Given the description of an element on the screen output the (x, y) to click on. 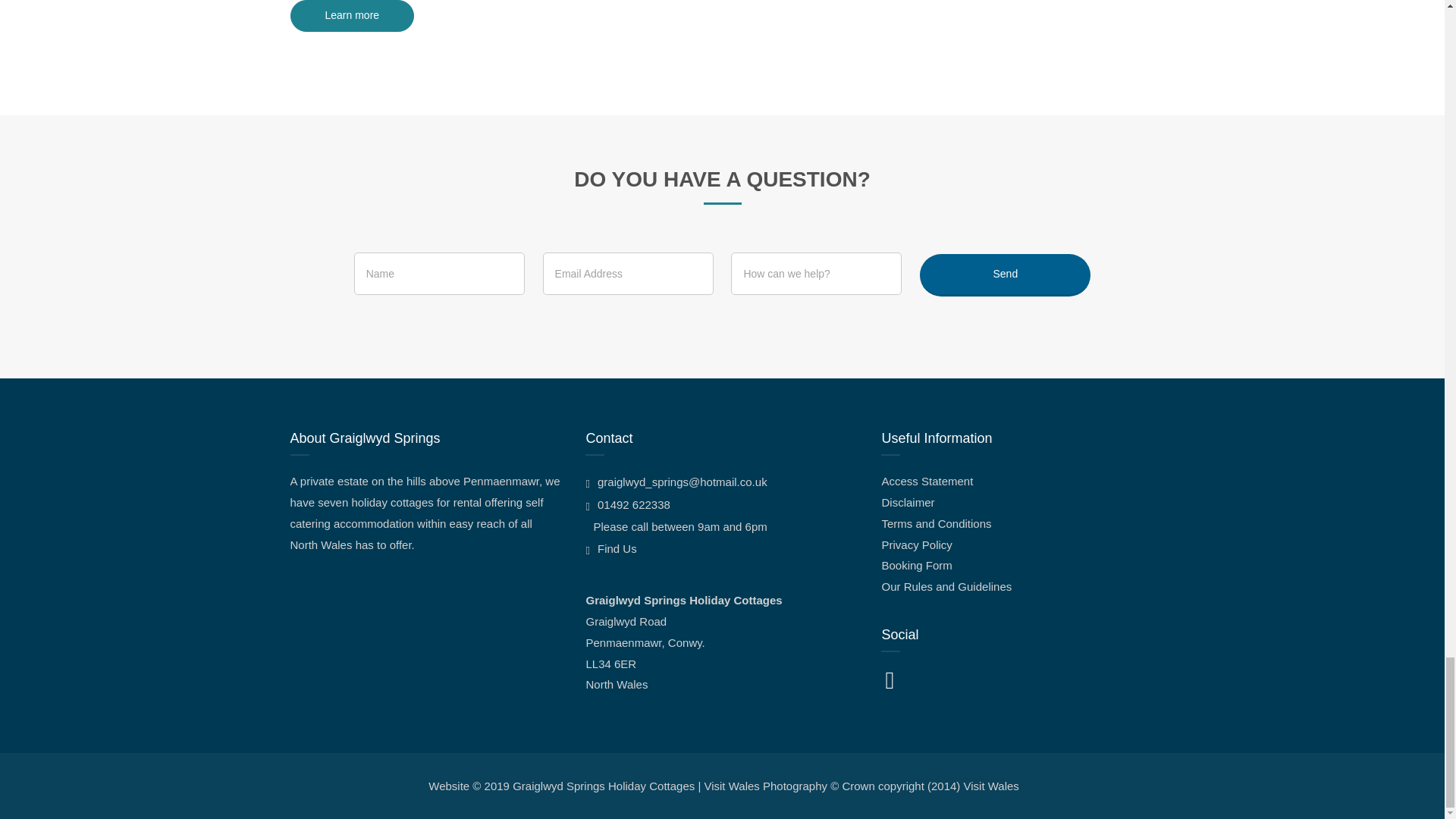
Access Statement (926, 481)
Learn more (351, 15)
Find Us (610, 548)
01492 622338 (627, 504)
Booking Form (916, 564)
Privacy Policy (916, 544)
Our Rules and Guidelines (945, 585)
Terms and Conditions (935, 522)
Send (1005, 274)
Disclaimer (907, 502)
Send (1005, 274)
